Given the description of an element on the screen output the (x, y) to click on. 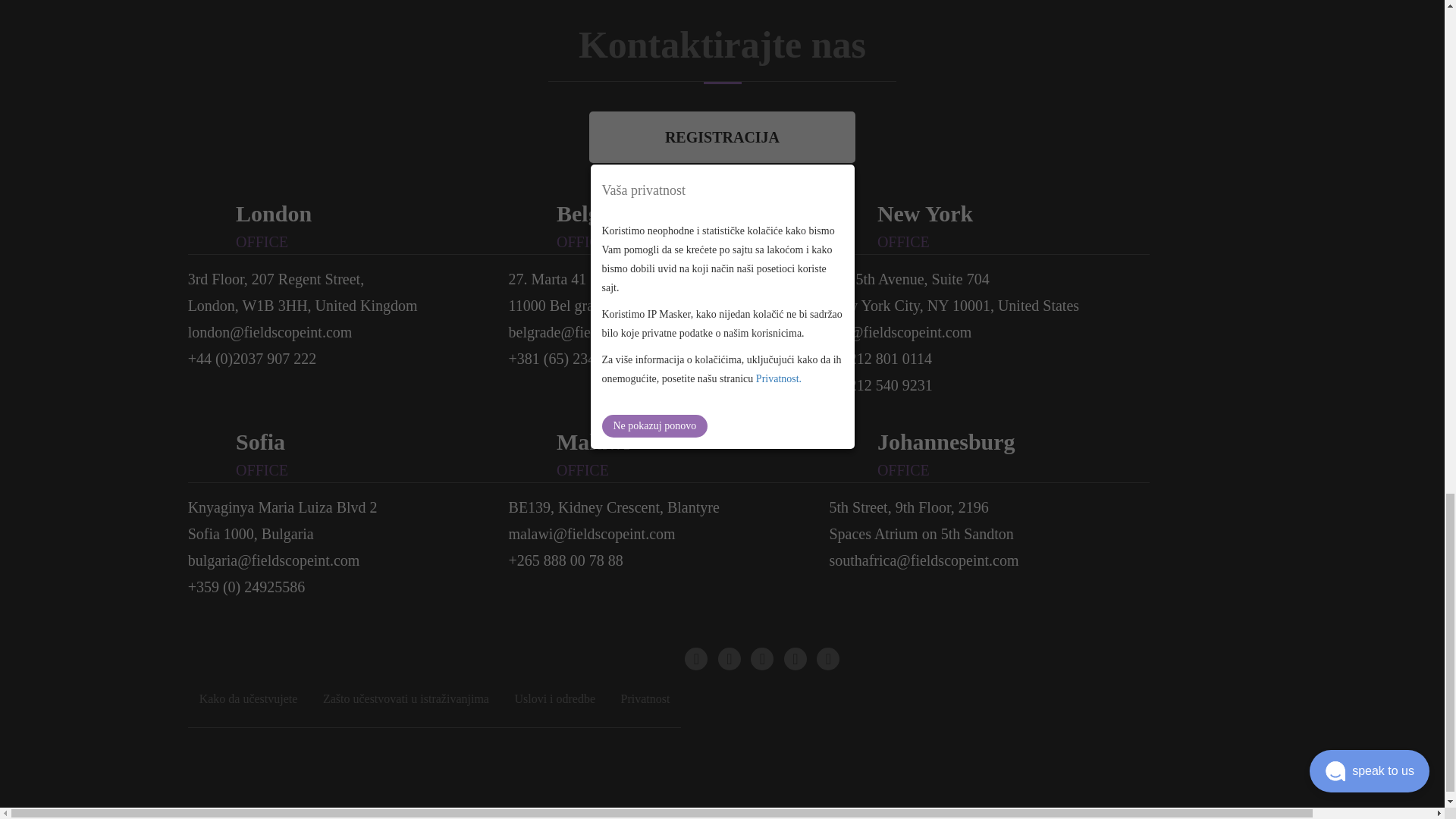
REGISTRACIJA (722, 137)
